Given the description of an element on the screen output the (x, y) to click on. 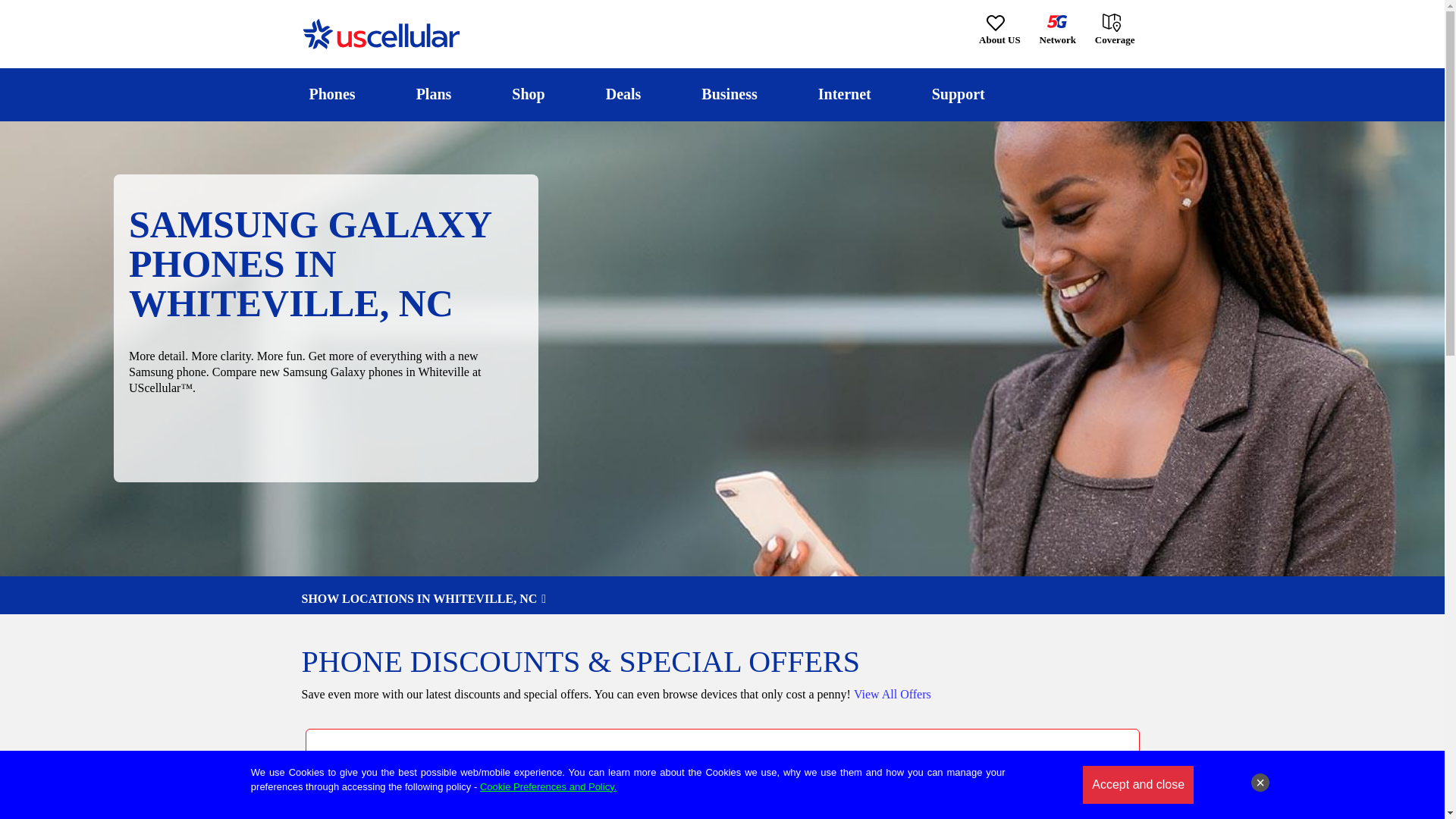
View All Offers (892, 694)
SHOW LOCATIONS IN WHITEVILLE, NC (722, 598)
Internet (844, 94)
Network (1057, 30)
Shop (528, 94)
Deals (623, 94)
Coverage (1115, 29)
About US (999, 30)
Phones (332, 94)
Business (729, 94)
Support (957, 94)
Plans (433, 94)
